Given the description of an element on the screen output the (x, y) to click on. 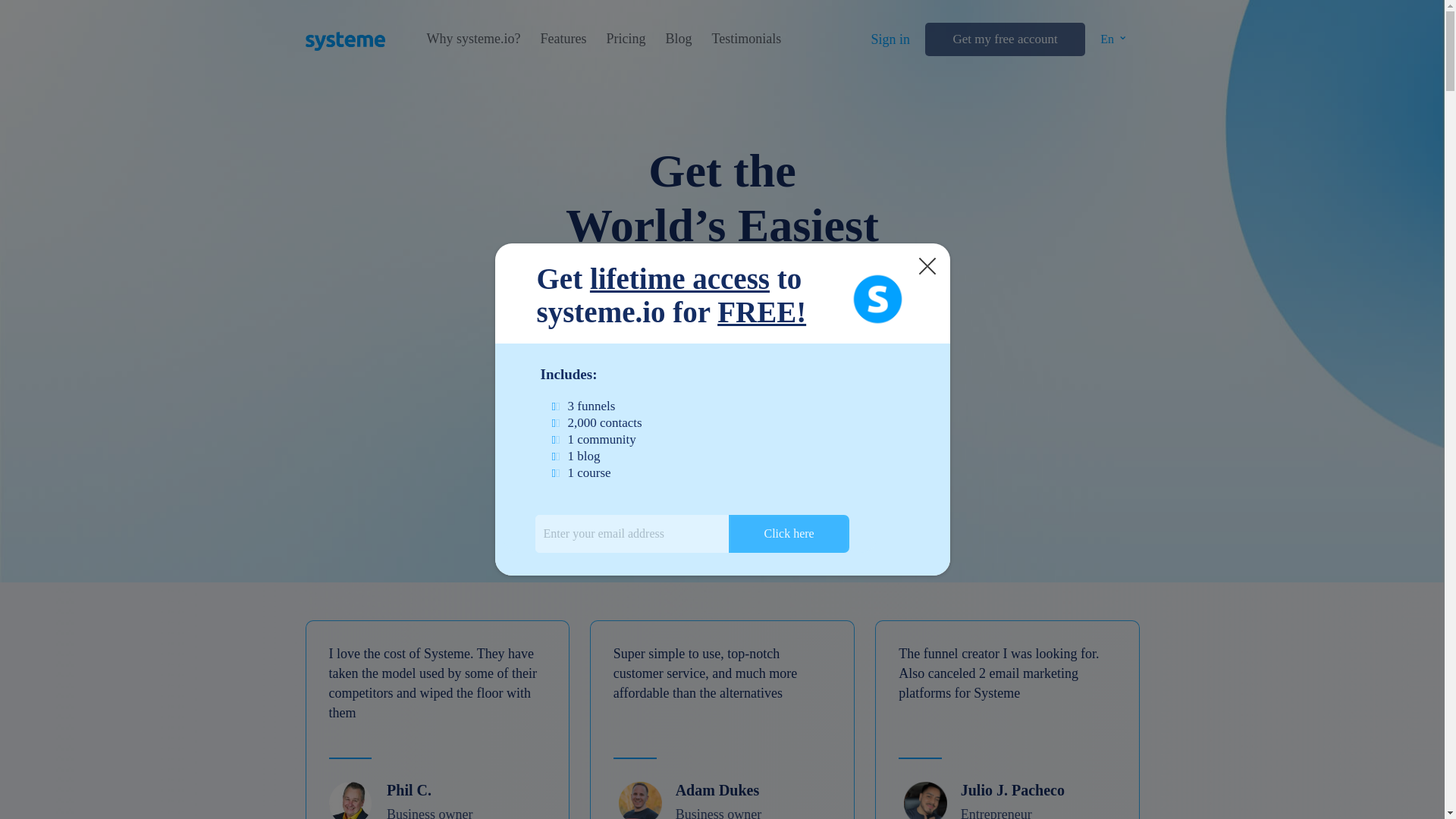
Get my free account (1004, 39)
Pricing (625, 38)
Blog (678, 38)
Testimonials (745, 38)
Features (563, 38)
Sign in (890, 39)
Why systeme.io? (472, 38)
